Given the description of an element on the screen output the (x, y) to click on. 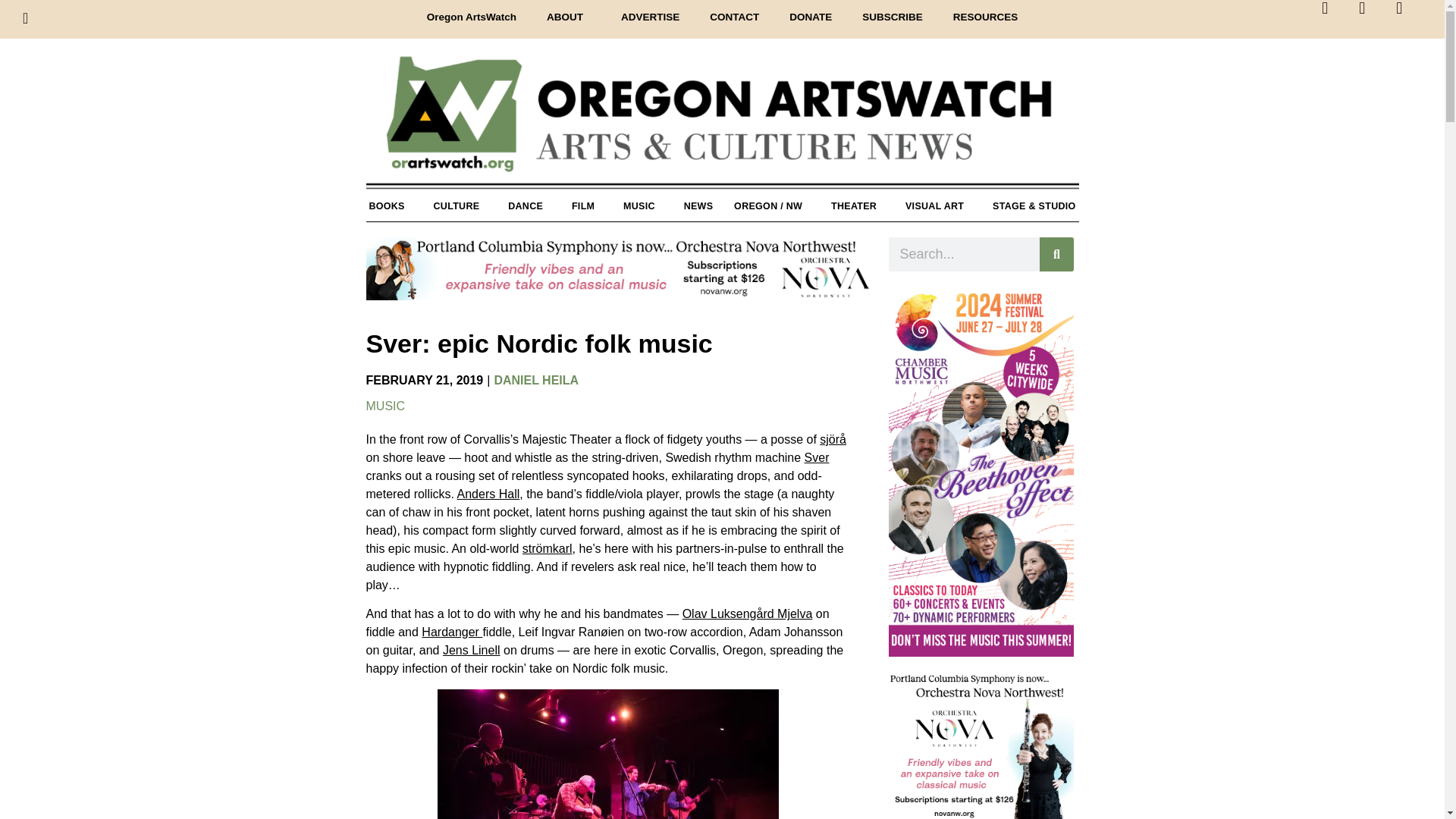
Oregon ArtsWatch (721, 122)
Oregon ArtsWatch (471, 17)
ADVERTISE (649, 17)
ABOUT (568, 17)
DONATE (810, 17)
RESOURCES (985, 17)
CONTACT (734, 17)
SUBSCRIBE (892, 17)
